Given the description of an element on the screen output the (x, y) to click on. 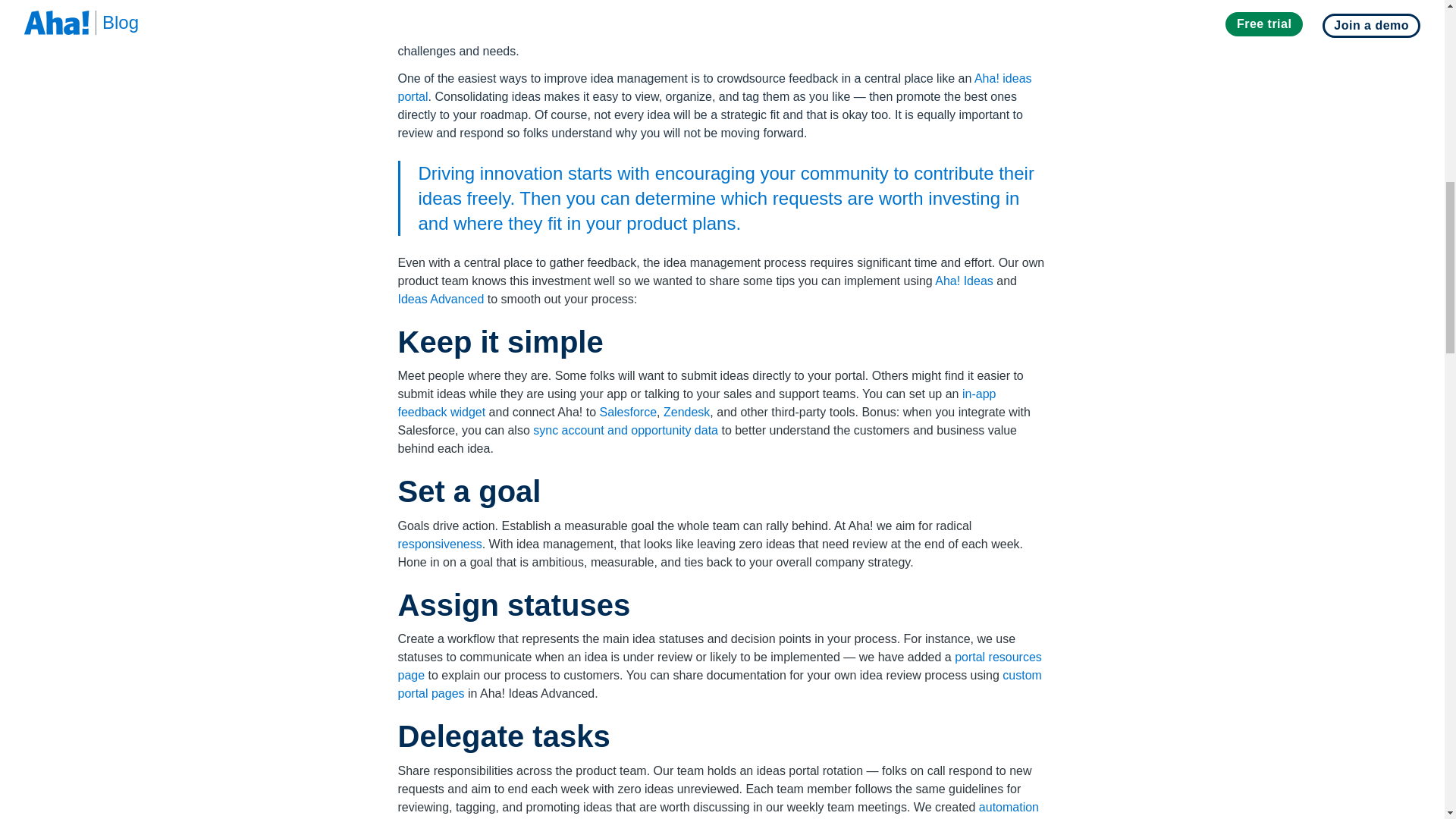
Aha! ideas portal (713, 87)
automation rules (718, 809)
promote (918, 96)
in-app feedback widget (696, 402)
Ideas Advanced (440, 298)
Zendesk (686, 411)
responsiveness (439, 543)
sync account and opportunity data (624, 430)
Salesforce (627, 411)
portal resources page (719, 665)
